Given the description of an element on the screen output the (x, y) to click on. 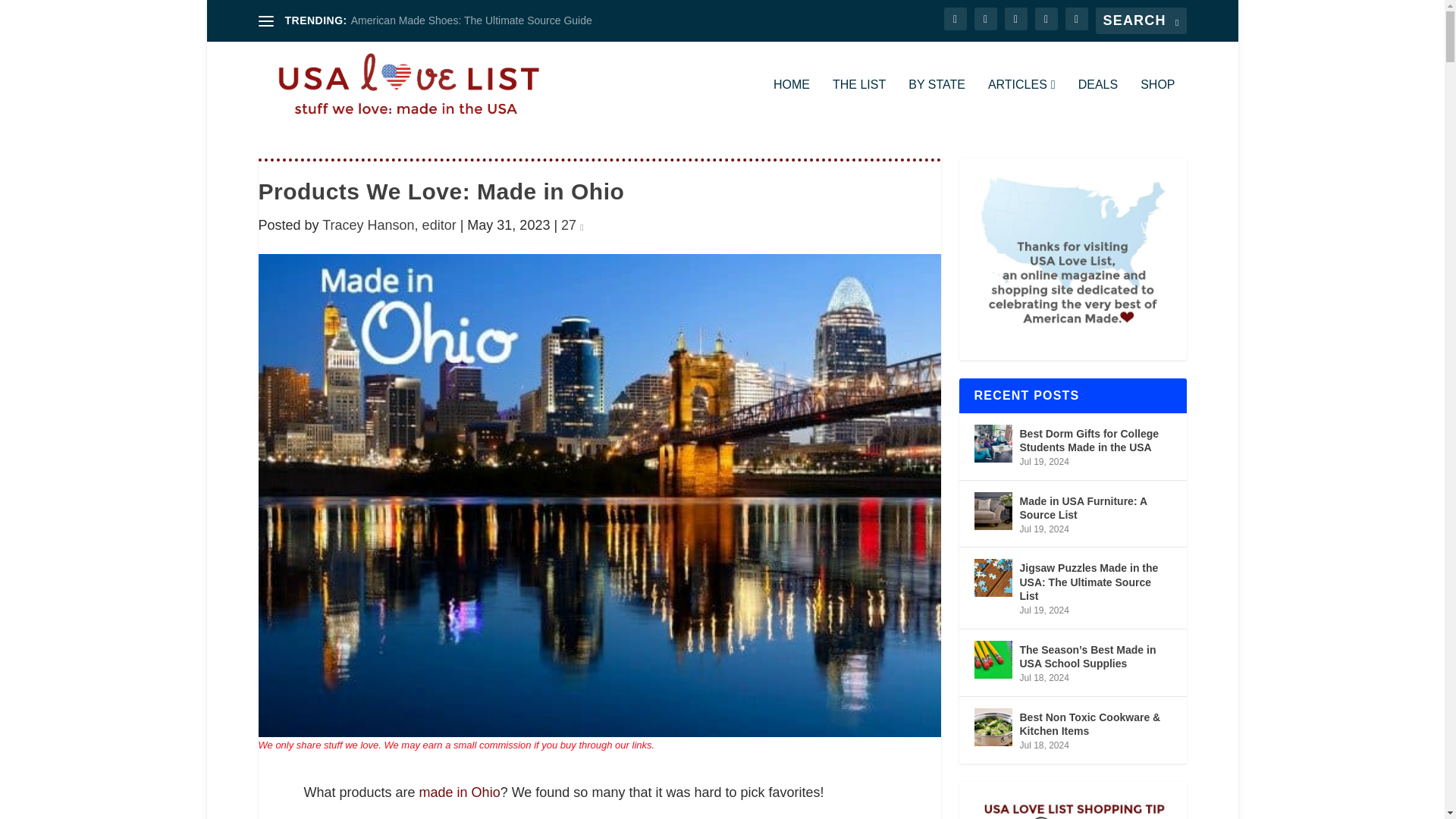
made in Ohio (459, 792)
BY STATE (936, 102)
Posts by Tracey Hanson, editor (388, 224)
Tracey Hanson, editor (388, 224)
27 (571, 224)
American Made Shoes: The Ultimate Source Guide (471, 20)
THE LIST (858, 102)
